Given the description of an element on the screen output the (x, y) to click on. 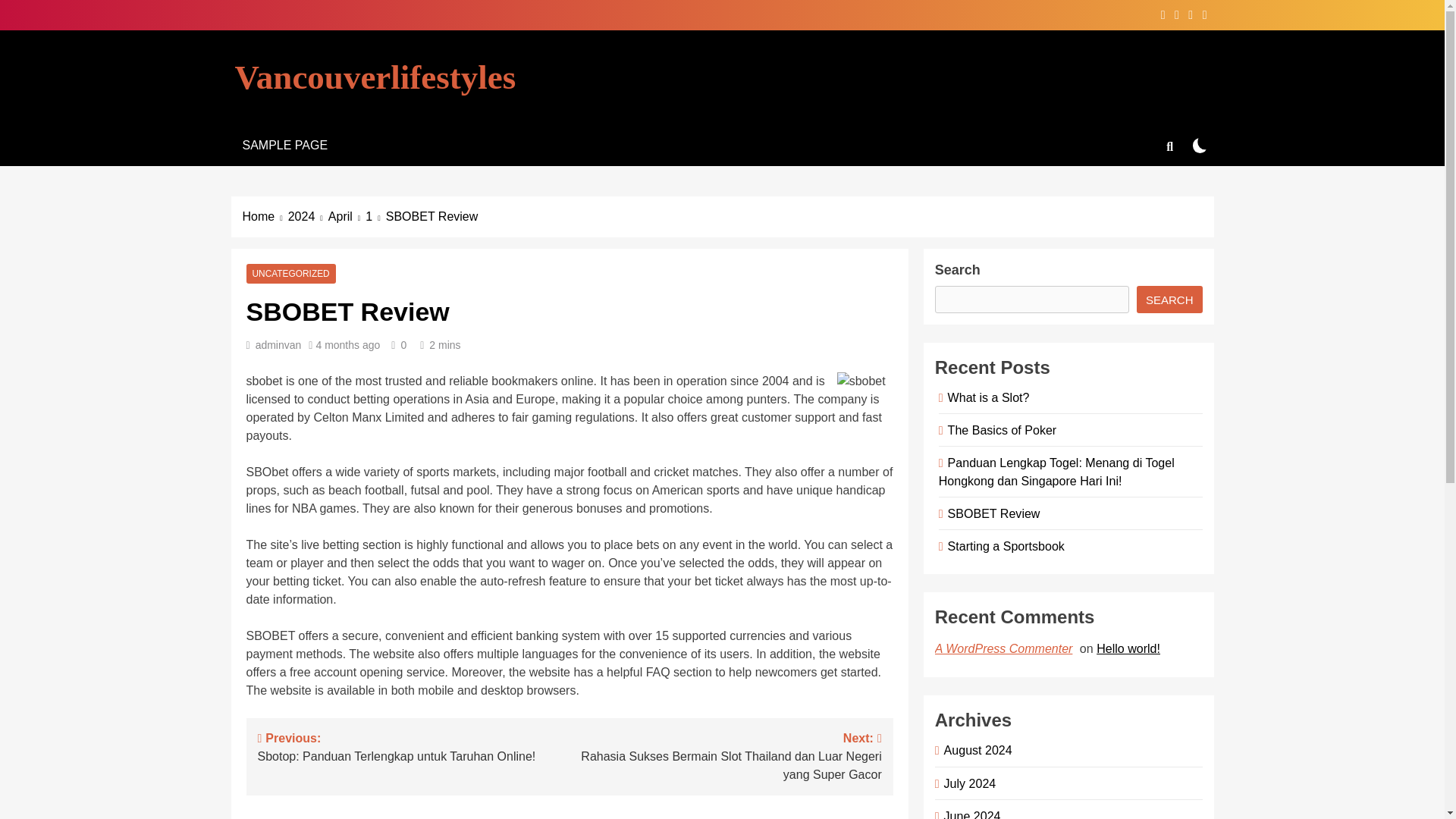
on (1199, 145)
SAMPLE PAGE (284, 145)
1 (375, 217)
2024 (308, 217)
SBOBET Review (991, 513)
4 months ago (347, 345)
Starting a Sportsbook (1003, 545)
SEARCH (1169, 298)
adminvan (278, 345)
Vancouverlifestyles (375, 77)
UNCATEGORIZED (290, 273)
Hello world! (1129, 648)
June 2024 (969, 814)
